Given the description of an element on the screen output the (x, y) to click on. 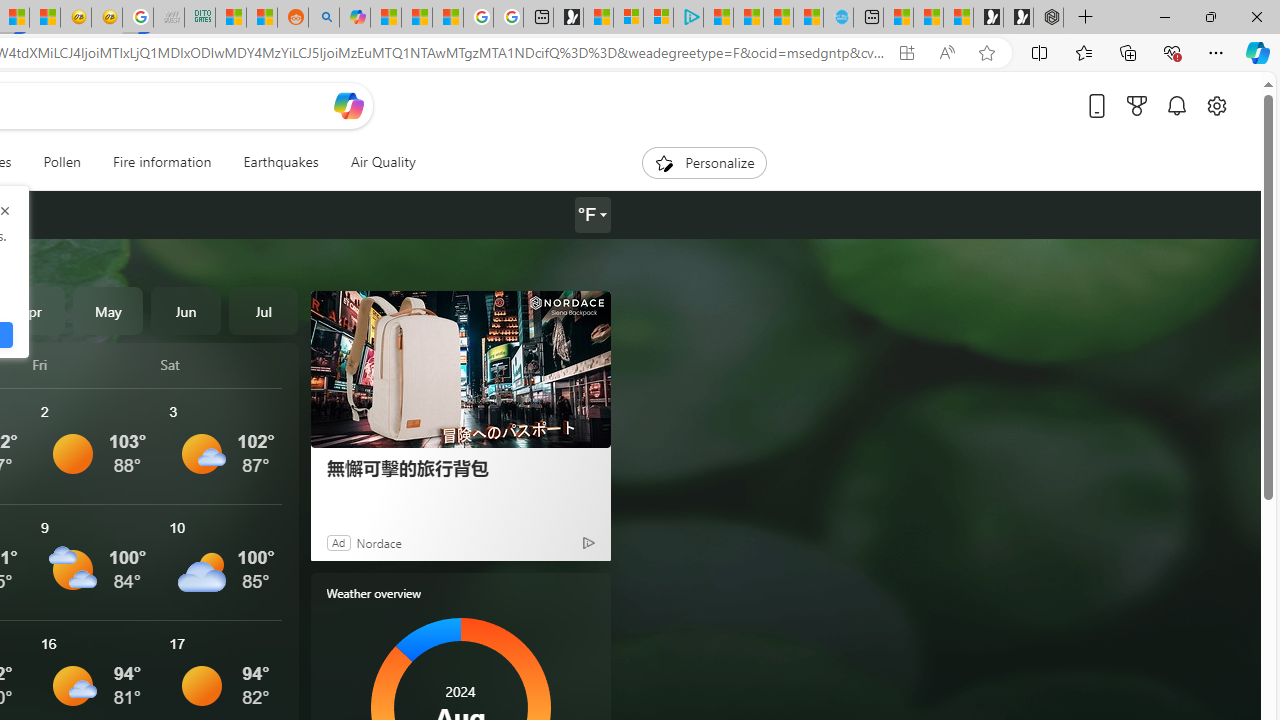
Pollen (61, 162)
Home | Sky Blue Bikes - Sky Blue Bikes (838, 17)
Air Quality (375, 162)
Jul (263, 310)
See More Details (221, 561)
Weather settings (591, 215)
